Given the description of an element on the screen output the (x, y) to click on. 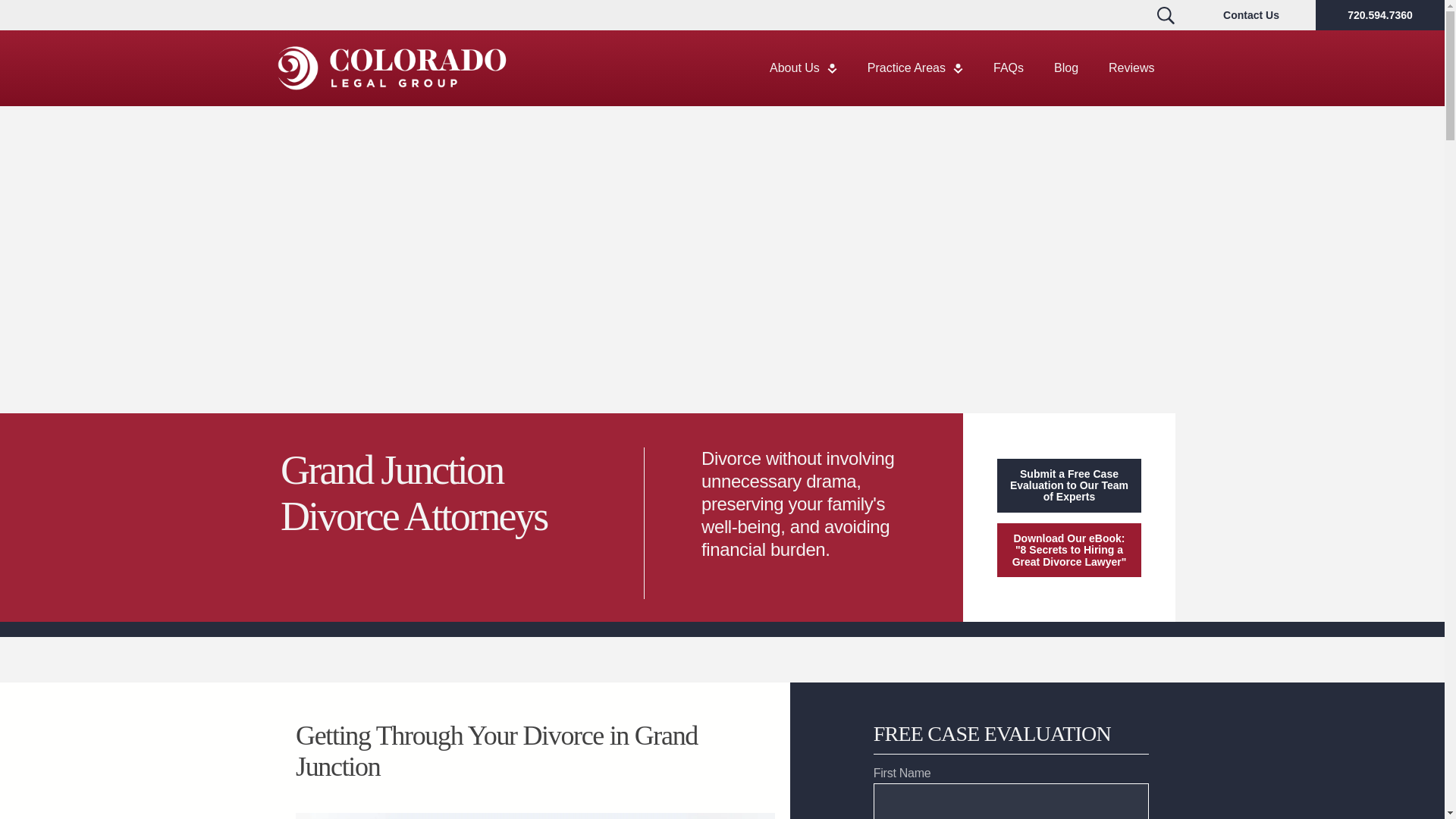
Contact Us (1251, 15)
Search (1165, 14)
Practice Areas (914, 68)
About Us (802, 68)
